Given the description of an element on the screen output the (x, y) to click on. 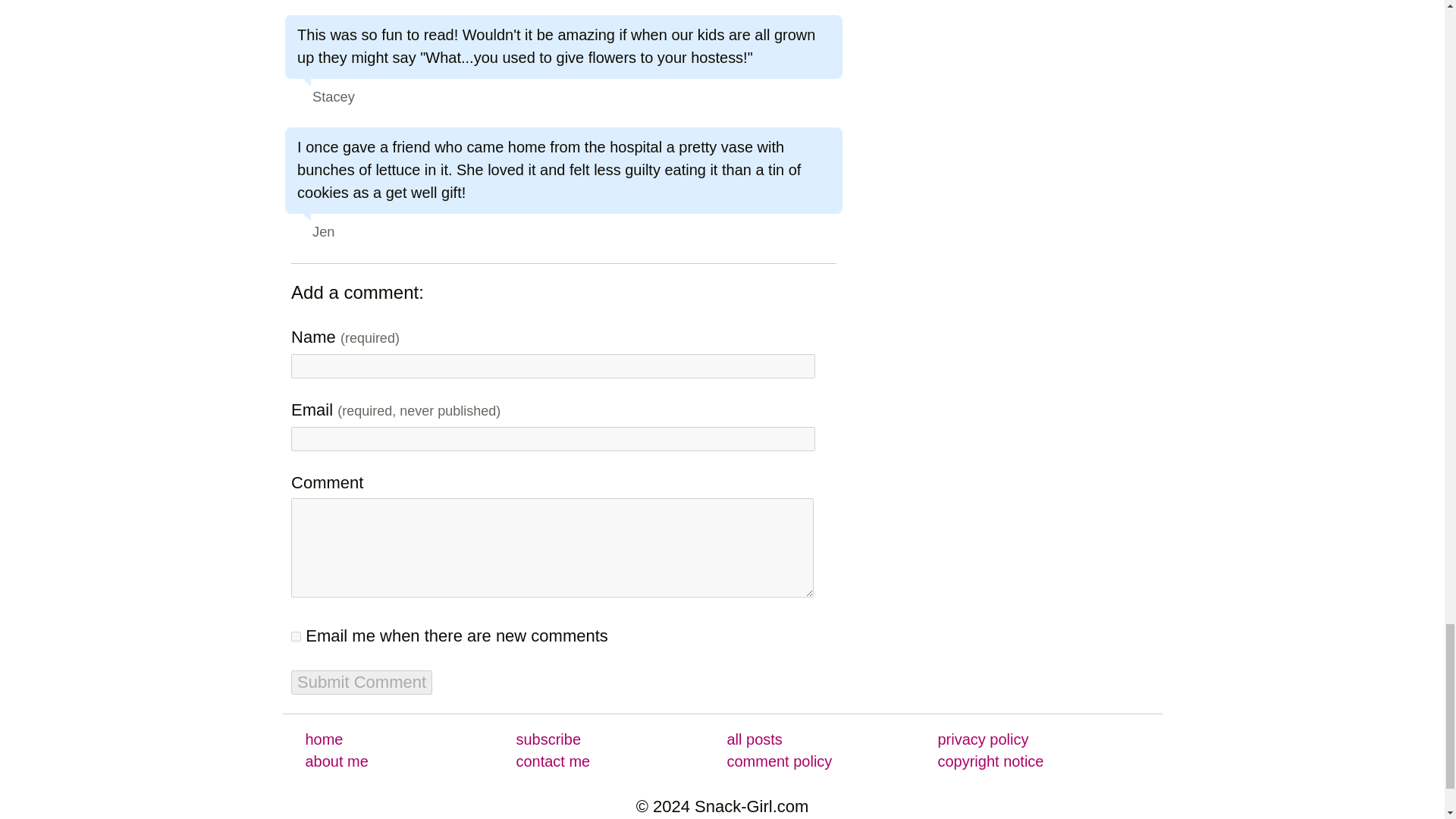
about me (336, 761)
home (323, 739)
contact me (552, 761)
Submit Comment (361, 682)
on (296, 636)
all posts (753, 739)
subscribe (547, 739)
Submit Comment (361, 682)
